Given the description of an element on the screen output the (x, y) to click on. 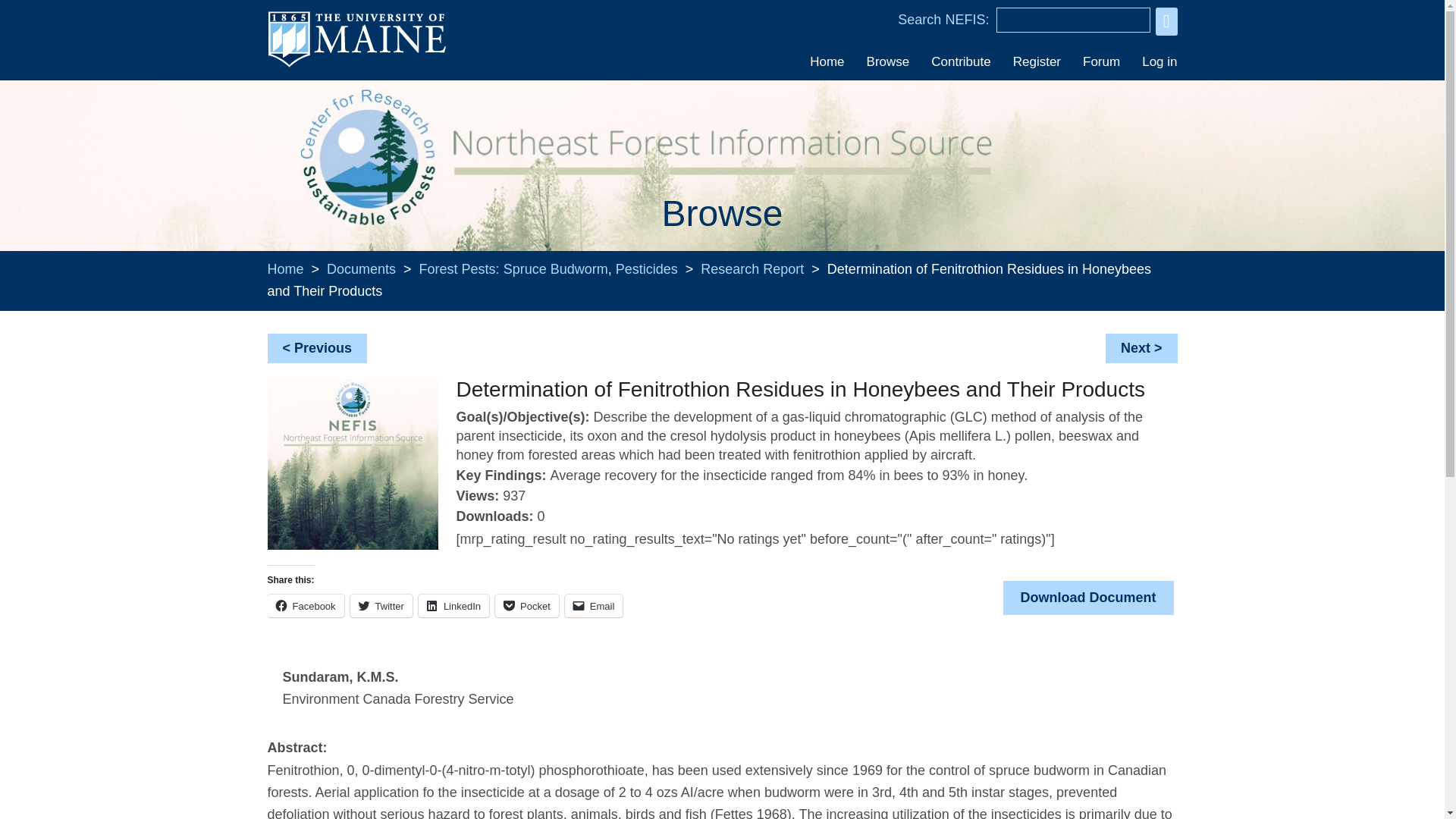
Email (593, 605)
LinkedIn (454, 605)
Download Document (1088, 597)
Facebook (304, 605)
Click to share on Facebook (304, 605)
Click to email a link to a friend (593, 605)
Home (284, 268)
Download Document (1088, 597)
Contribute (959, 61)
Center for Research on Sustainable Forests (369, 155)
